Given the description of an element on the screen output the (x, y) to click on. 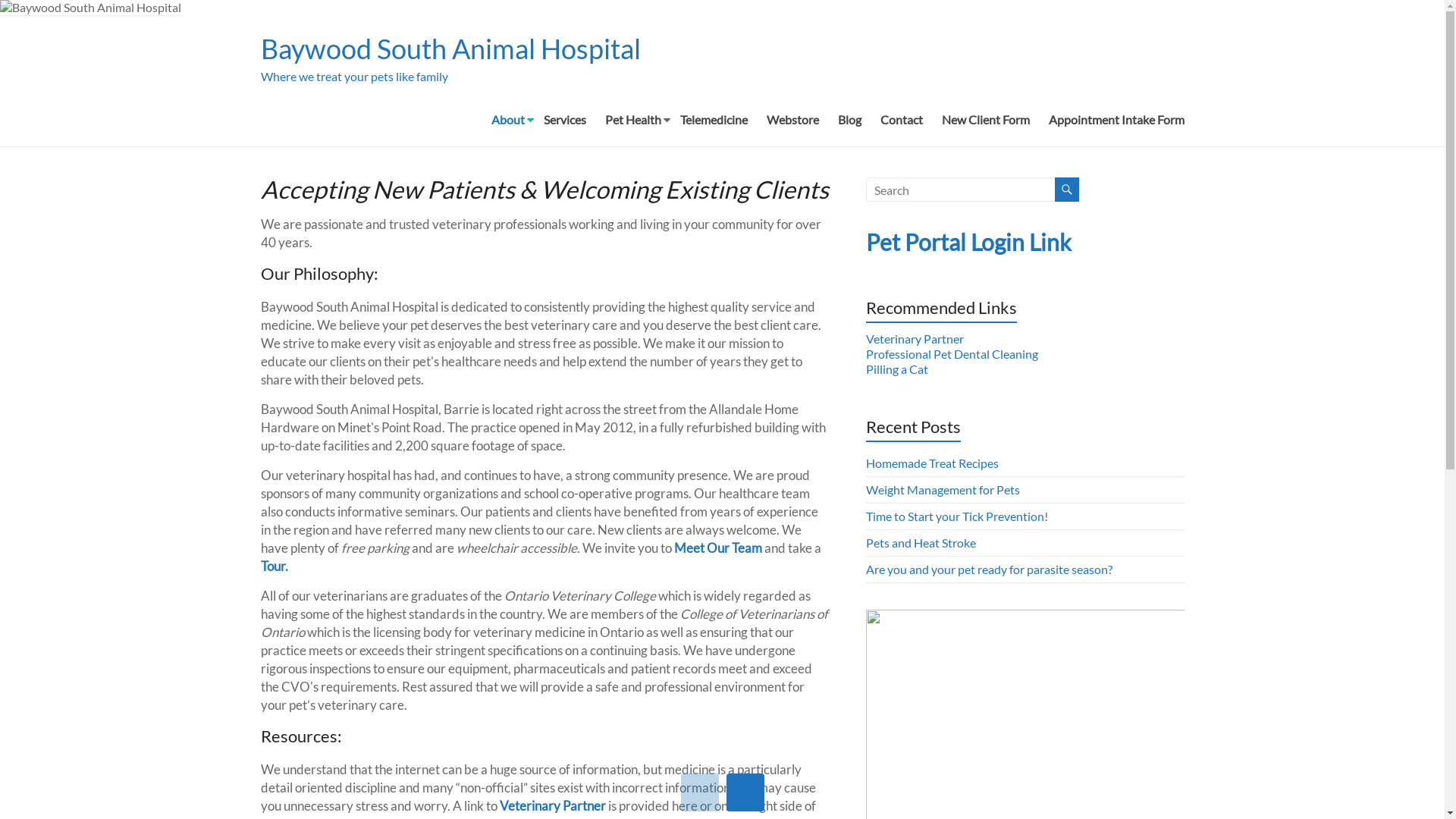
Pilling a Cat Element type: text (897, 368)
Professional Pet Dental Cleaning Element type: text (952, 353)
Telemedicine Element type: text (712, 123)
Veterinary Partner Element type: text (552, 805)
Time to Start your Tick Prevention! Element type: text (957, 515)
Veterinary Partner Element type: text (914, 338)
Baywood South Animal Hospital Element type: text (450, 48)
Blog Element type: text (848, 123)
Tour. Element type: text (274, 566)
Webstore Element type: text (791, 123)
Pet Portal Login Link Element type: text (968, 241)
Contact Element type: text (900, 123)
Weight Management for Pets Element type: text (942, 489)
Are you and your pet ready for parasite season? Element type: text (989, 568)
Appointment Intake Form Element type: text (1115, 123)
New Client Form Element type: text (985, 123)
DOWN Element type: text (745, 792)
Services Element type: text (563, 123)
Pets and Heat Stroke Element type: text (920, 542)
About Element type: text (507, 123)
Meet Our Team Element type: text (717, 547)
Homemade Treat Recipes Element type: text (932, 462)
Pet Health Element type: text (633, 123)
UP Element type: text (699, 792)
